Given the description of an element on the screen output the (x, y) to click on. 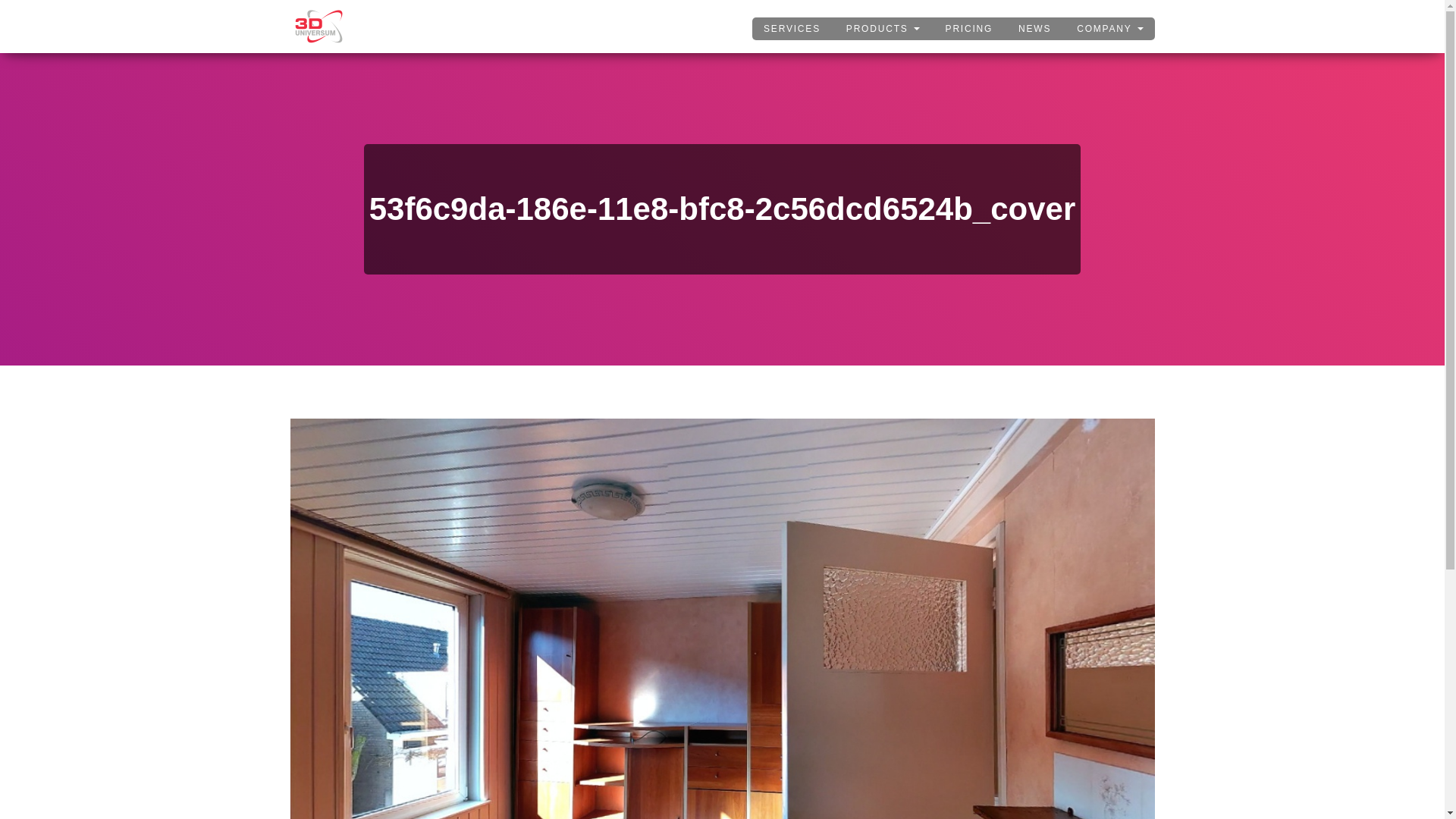
COMPANY Element type: text (1109, 27)
PRICING Element type: text (969, 27)
53f6c9da-186e-11e8-bfc8-2c56dcd6524b_cover Element type: hover (721, 687)
PRODUCTS Element type: text (882, 27)
3DUNIVERSUM Element type: hover (317, 26)
SERVICES Element type: text (791, 27)
NEWS Element type: text (1034, 27)
